Given the description of an element on the screen output the (x, y) to click on. 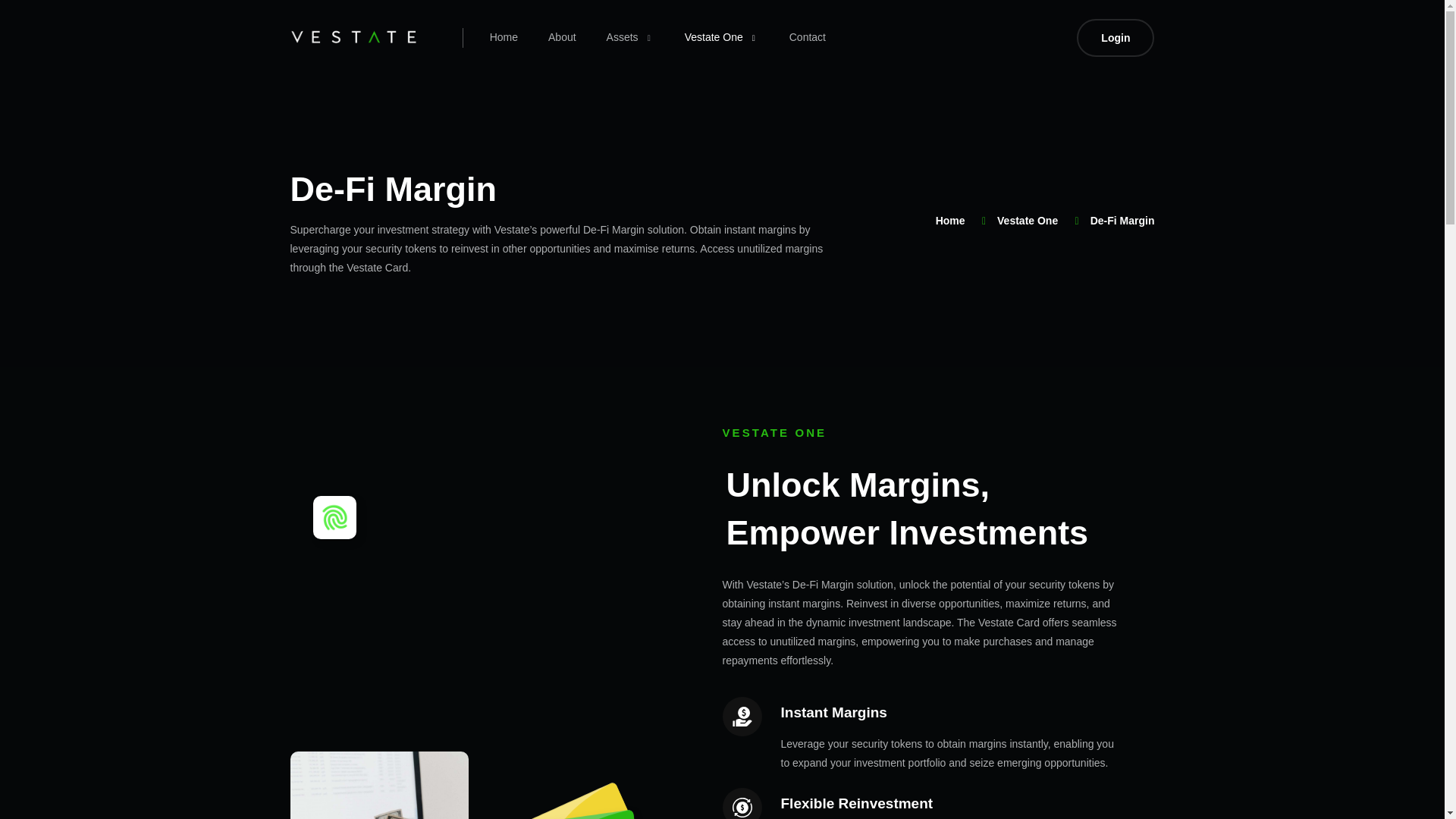
Login (1115, 37)
De-Fi Margin (566, 185)
Assets (630, 37)
Home (998, 220)
VESTATE ONE (950, 223)
About (926, 432)
Login (561, 37)
Home (1115, 37)
Vestate One (503, 37)
Unlock Margins, Empower Investments (721, 37)
